Given the description of an element on the screen output the (x, y) to click on. 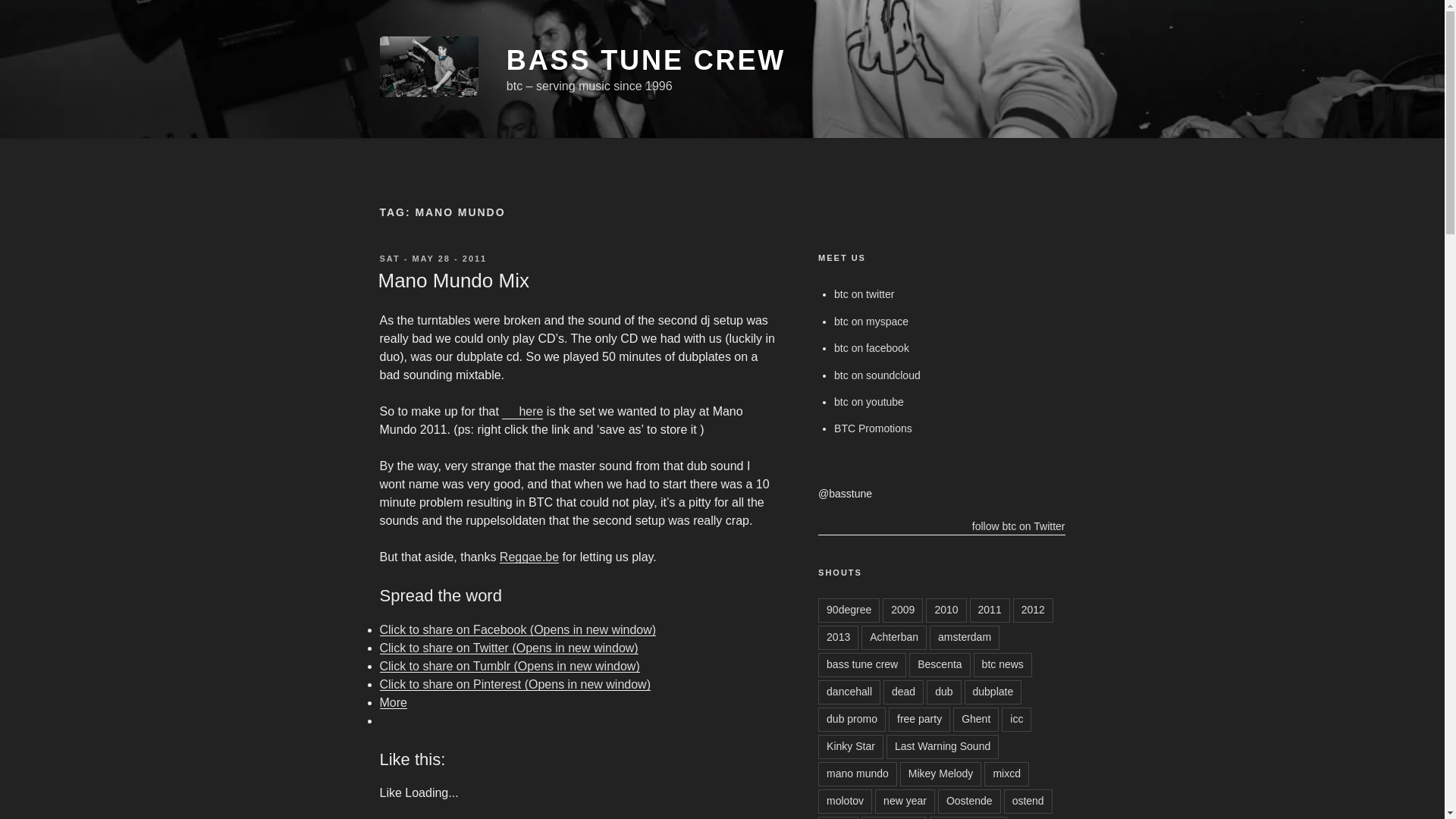
mano mundo Element type: text (857, 774)
90degree Element type: text (848, 610)
btc on soundcloud Element type: text (877, 375)
2010 Element type: text (945, 610)
mixcd Element type: text (1006, 774)
here Element type: text (522, 411)
BTC Promotions Element type: text (873, 428)
Kinky Star Element type: text (850, 746)
Achterban Element type: text (893, 637)
free party Element type: text (919, 719)
btc on twitter Element type: text (864, 294)
Last Warning Sound Element type: text (942, 746)
2013 Element type: text (838, 637)
2012 Element type: text (1033, 610)
BASS TUNE CREW Element type: text (645, 59)
Mano Mundo Mix Element type: text (452, 280)
Click to share on Facebook (Opens in new window) Element type: text (517, 629)
btc on youtube Element type: text (868, 401)
Reggae.be Element type: text (528, 556)
dead Element type: text (903, 692)
Click to share on Twitter (Opens in new window) Element type: text (508, 647)
Oostende Element type: text (969, 801)
icc Element type: text (1016, 719)
bass tune crew Element type: text (862, 664)
Ghent Element type: text (975, 719)
More Element type: text (392, 702)
btc on myspace Element type: text (871, 321)
Click to share on Tumblr (Opens in new window) Element type: text (509, 665)
dub promo Element type: text (851, 719)
2011 Element type: text (989, 610)
molotov Element type: text (845, 801)
ostend Element type: text (1028, 801)
follow btc on Twitter Element type: text (941, 525)
dancehall Element type: text (849, 692)
btc news Element type: text (1002, 664)
dubplate Element type: text (993, 692)
Bescenta Element type: text (939, 664)
SAT - MAY 28 - 2011 Element type: text (432, 258)
Mikey Melody Element type: text (941, 774)
Click to share on Pinterest (Opens in new window) Element type: text (514, 683)
dub Element type: text (943, 692)
2009 Element type: text (902, 610)
amsterdam Element type: text (964, 637)
new year Element type: text (905, 801)
btc on facebook Element type: text (871, 348)
